Given the description of an element on the screen output the (x, y) to click on. 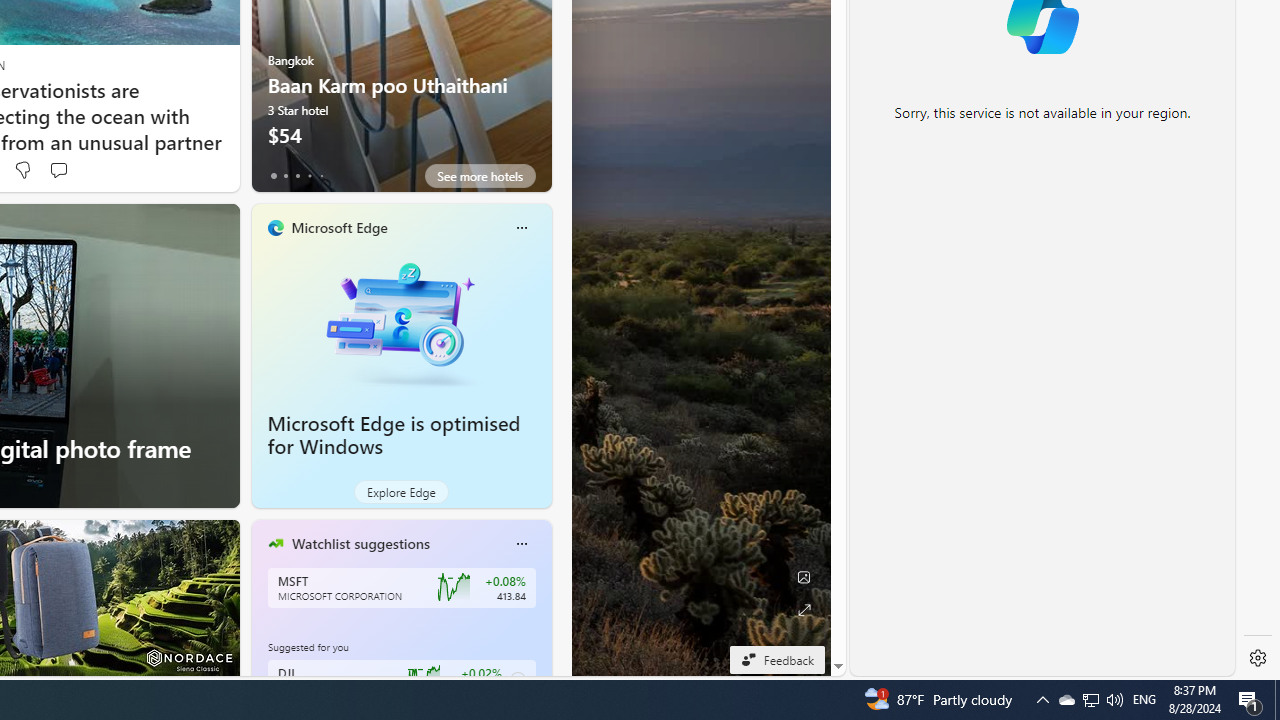
tab-2 (297, 175)
See more hotels (479, 175)
More options (521, 543)
Settings (1258, 658)
tab-4 (320, 175)
tab-0 (273, 175)
Expand background (803, 610)
Start the conversation (58, 169)
Class: icon-img (521, 543)
Start the conversation (57, 170)
Feedback (777, 659)
Explore Edge (401, 491)
Microsoft Edge (338, 227)
Edit Background (803, 577)
